Given the description of an element on the screen output the (x, y) to click on. 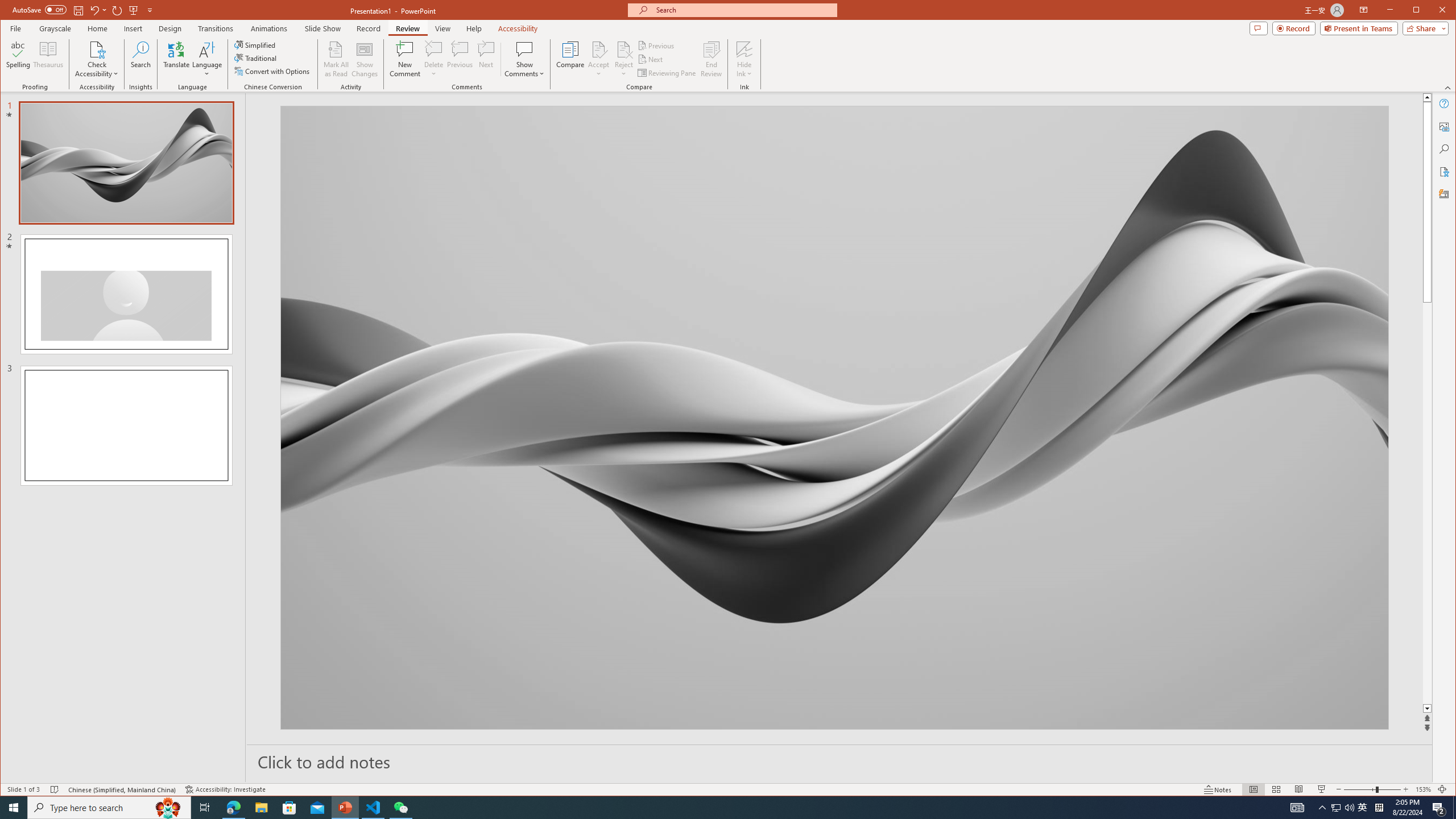
Compare (569, 59)
